Given the description of an element on the screen output the (x, y) to click on. 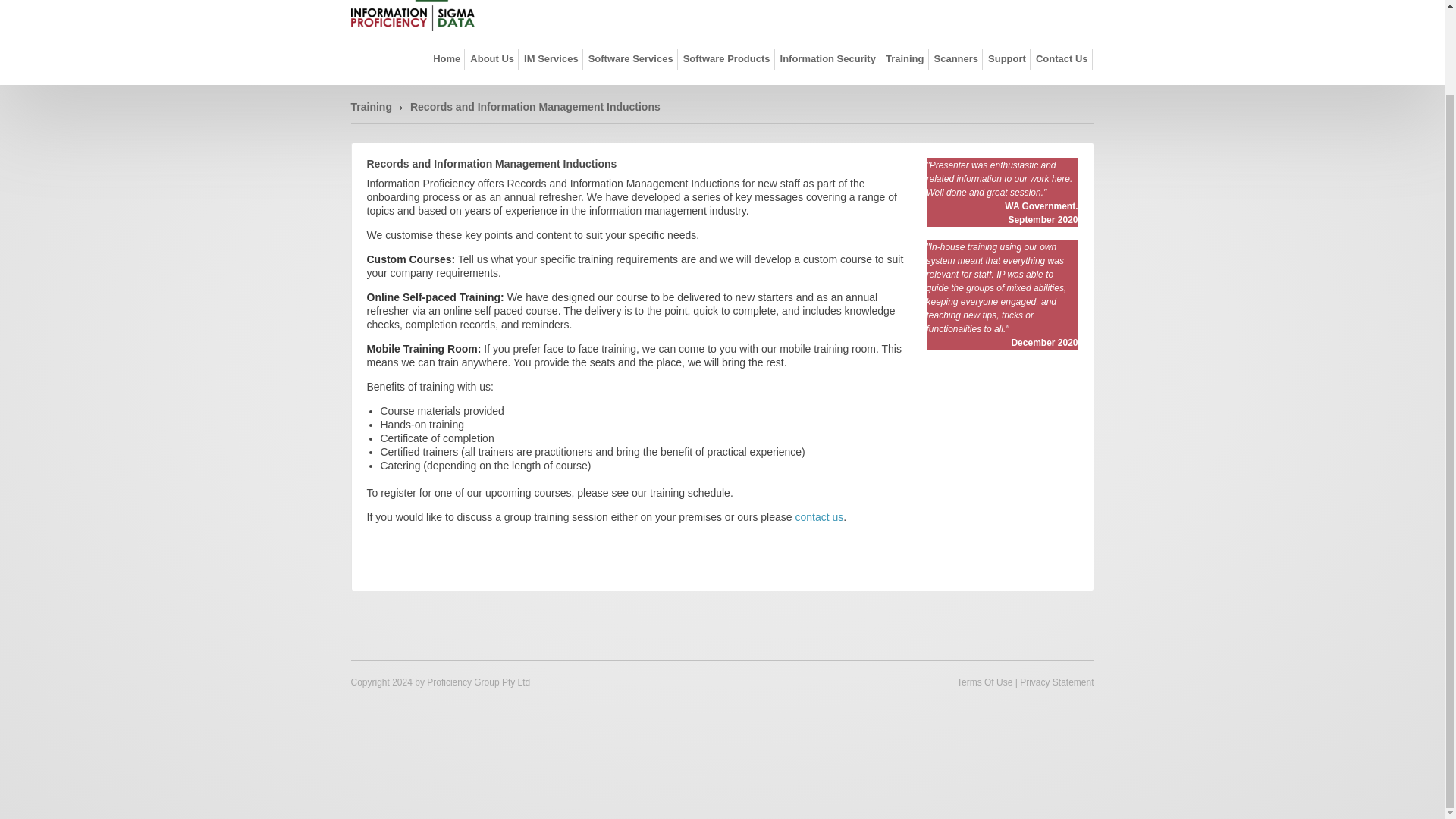
Software Services (631, 58)
About Us (491, 58)
IM Services (551, 58)
Home (446, 58)
Software Products (726, 58)
